Given the description of an element on the screen output the (x, y) to click on. 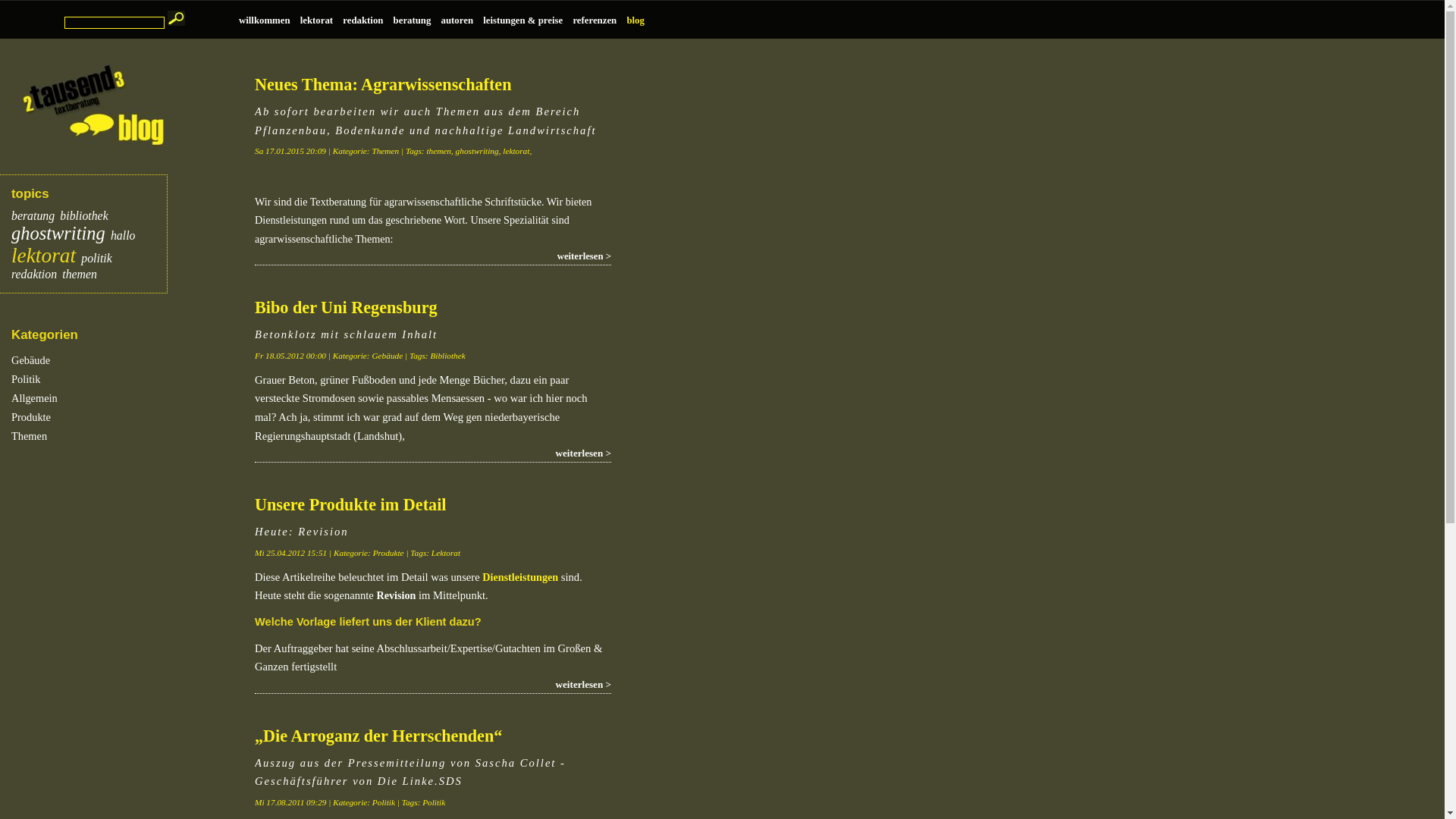
Neues Thema: Agrarwissenschaften Element type: text (382, 84)
weiterlesen > Element type: text (432, 453)
beratung Element type: text (417, 20)
Dienstleistungen Element type: text (520, 577)
redaktion Element type: text (367, 20)
politik Element type: text (96, 257)
themen Element type: text (79, 273)
redaktion Element type: text (33, 273)
willkommen Element type: text (269, 20)
ghostwriting Element type: text (58, 232)
Allgemein Element type: text (105, 396)
beratung Element type: text (32, 215)
hallo Element type: text (122, 235)
referenzen Element type: text (599, 20)
Impressum Element type: text (649, 29)
weiterlesen > Element type: text (432, 256)
AGB Element type: text (615, 29)
leistungen & preise Element type: text (527, 20)
Produkte Element type: text (105, 415)
blog Element type: text (638, 20)
bibliothek Element type: text (83, 215)
Politik Element type: text (105, 377)
Bibo der Uni Regensburg Element type: text (345, 307)
lektorat Element type: text (321, 20)
autoren Element type: text (462, 20)
weiterlesen > Element type: text (432, 684)
lektorat Element type: text (43, 255)
Unsere Produkte im Detail Element type: text (349, 504)
Themen Element type: text (105, 434)
